Given the description of an element on the screen output the (x, y) to click on. 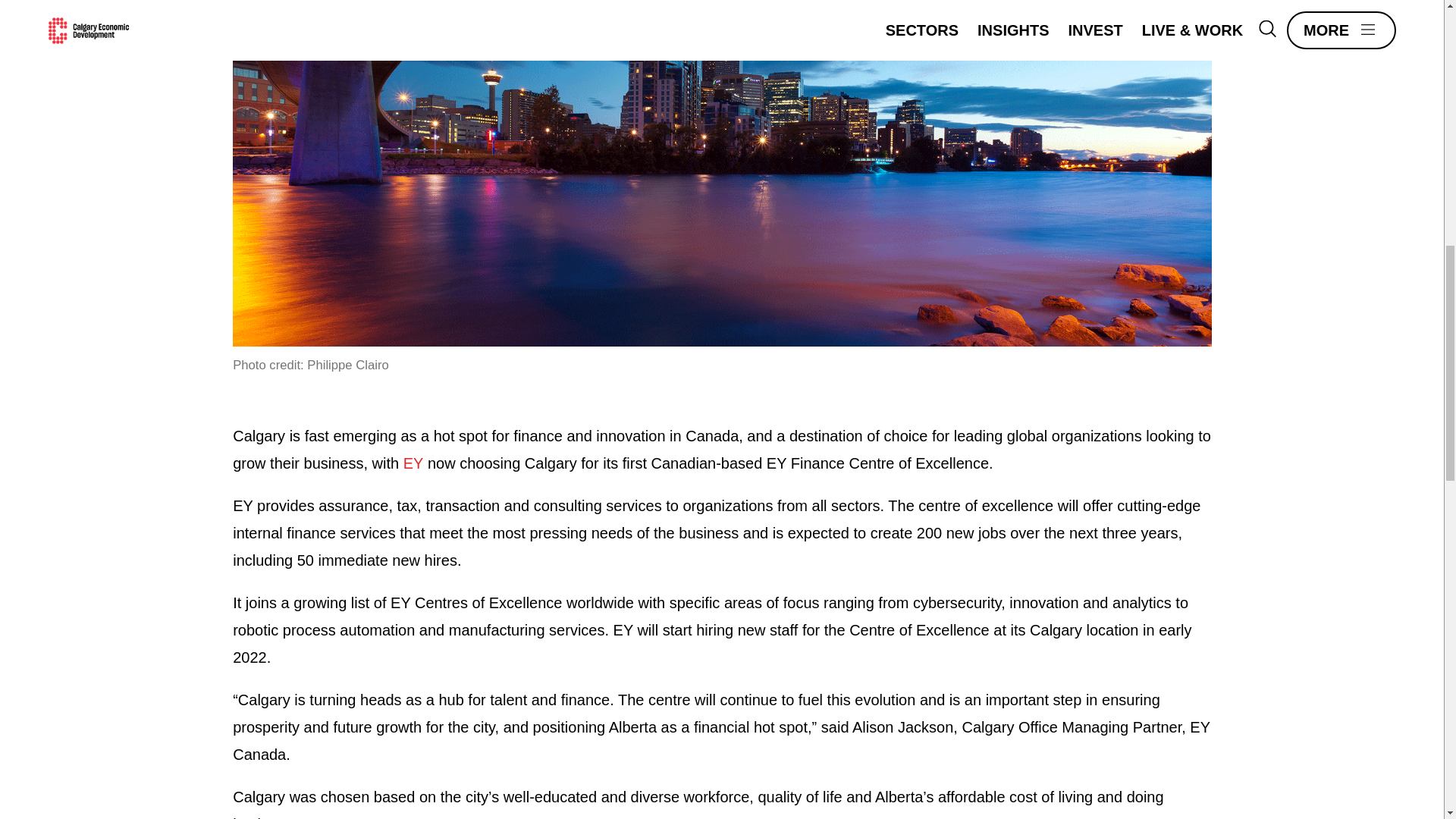
EY (413, 463)
